Given the description of an element on the screen output the (x, y) to click on. 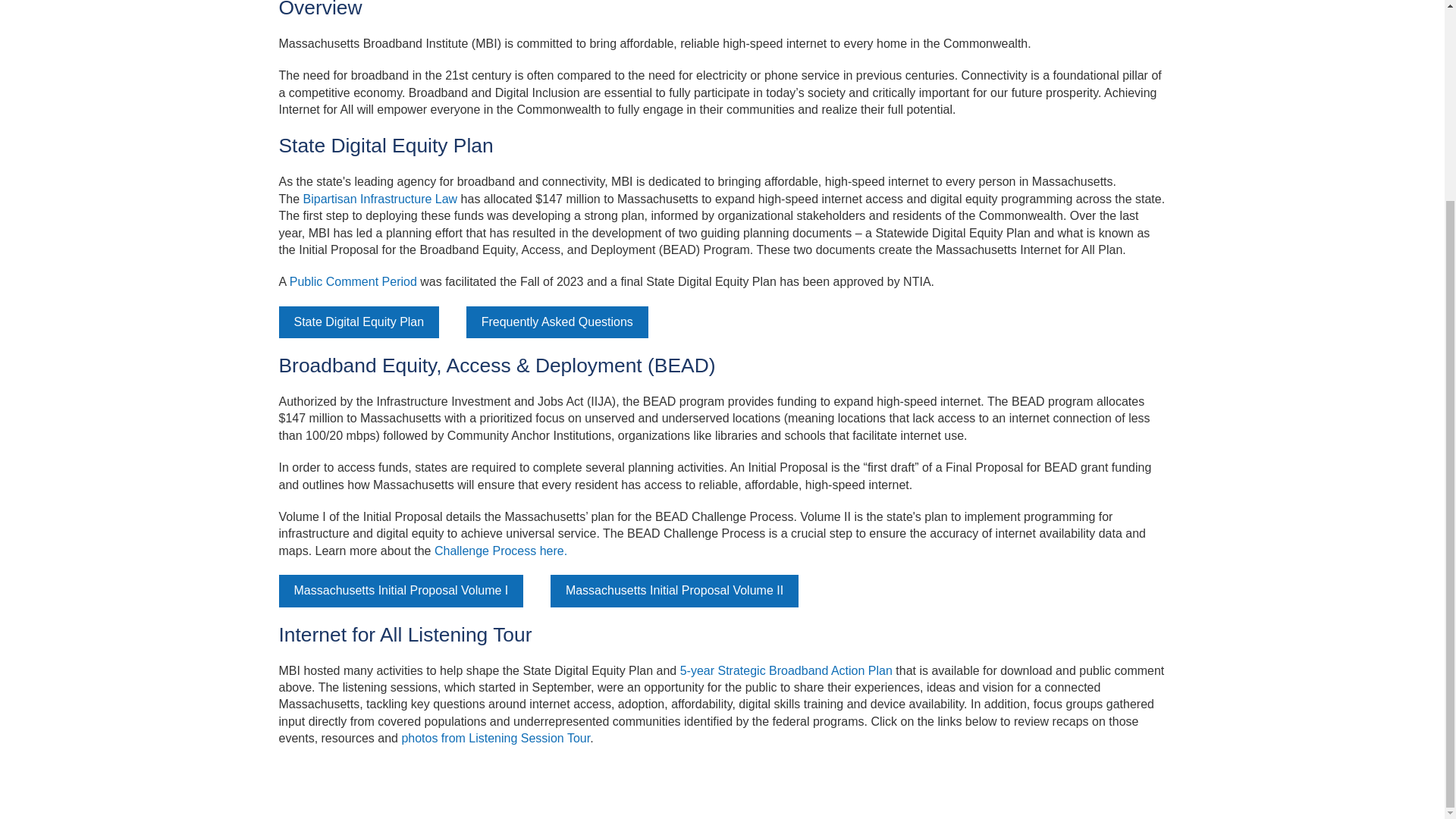
BEAD Initial Proposal Volume II.pdf (673, 590)
Massachusetts Internet for All Plan (352, 281)
